Given the description of an element on the screen output the (x, y) to click on. 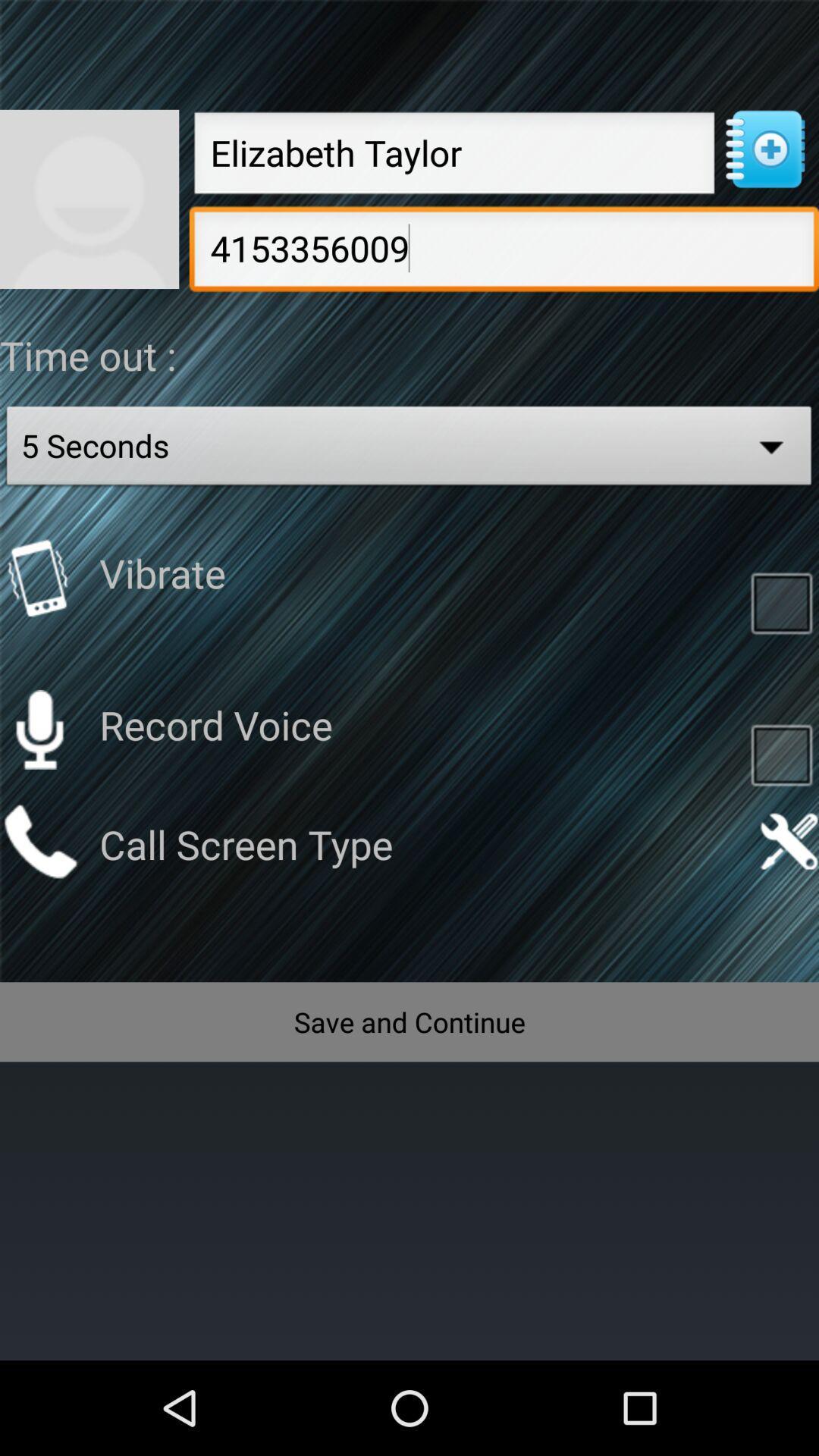
add picture (89, 198)
